Given the description of an element on the screen output the (x, y) to click on. 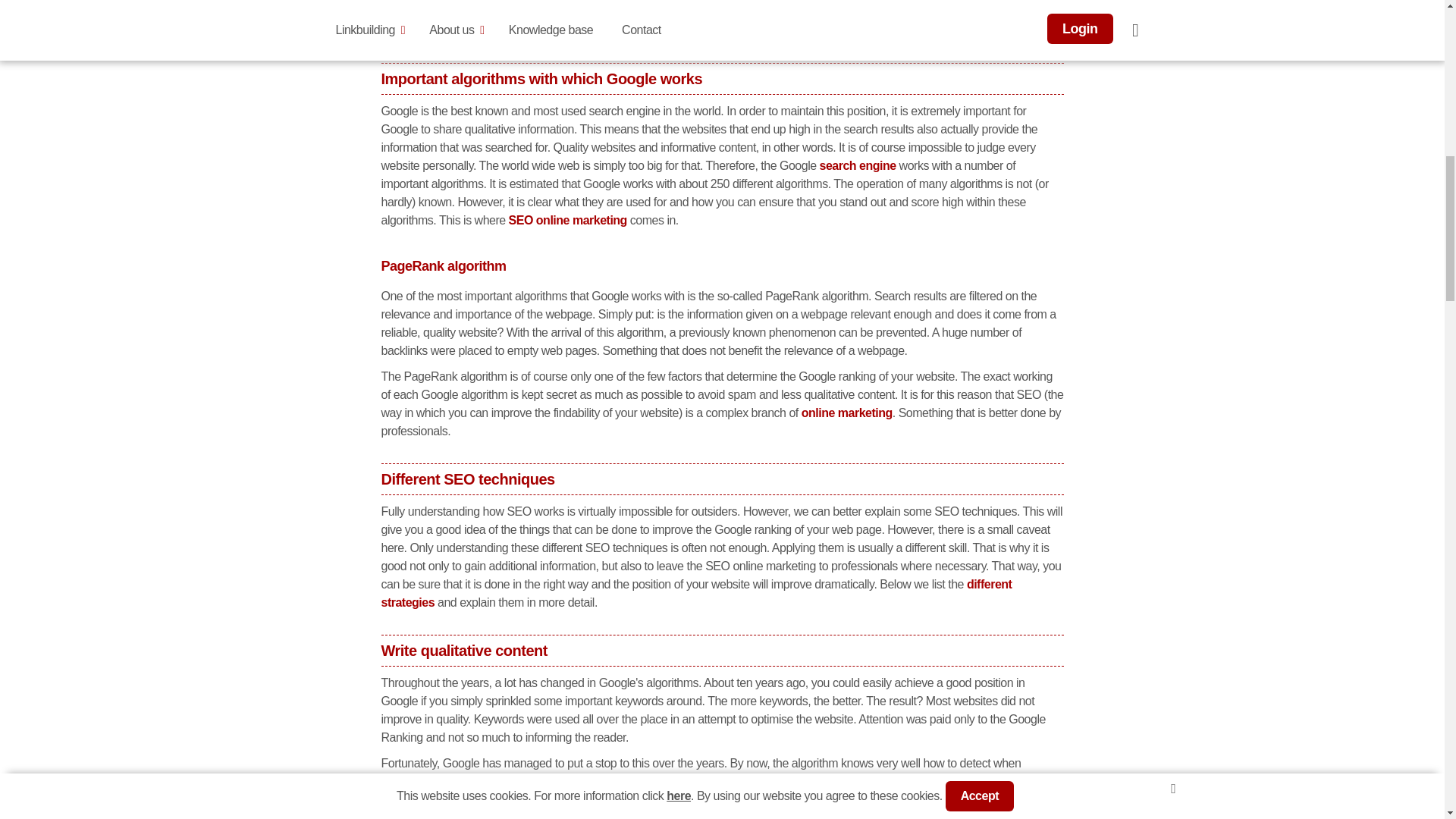
online marketing (847, 412)
SEO online marketing (567, 219)
different strategies (695, 593)
search engine (857, 164)
online marketing (847, 412)
